Given the description of an element on the screen output the (x, y) to click on. 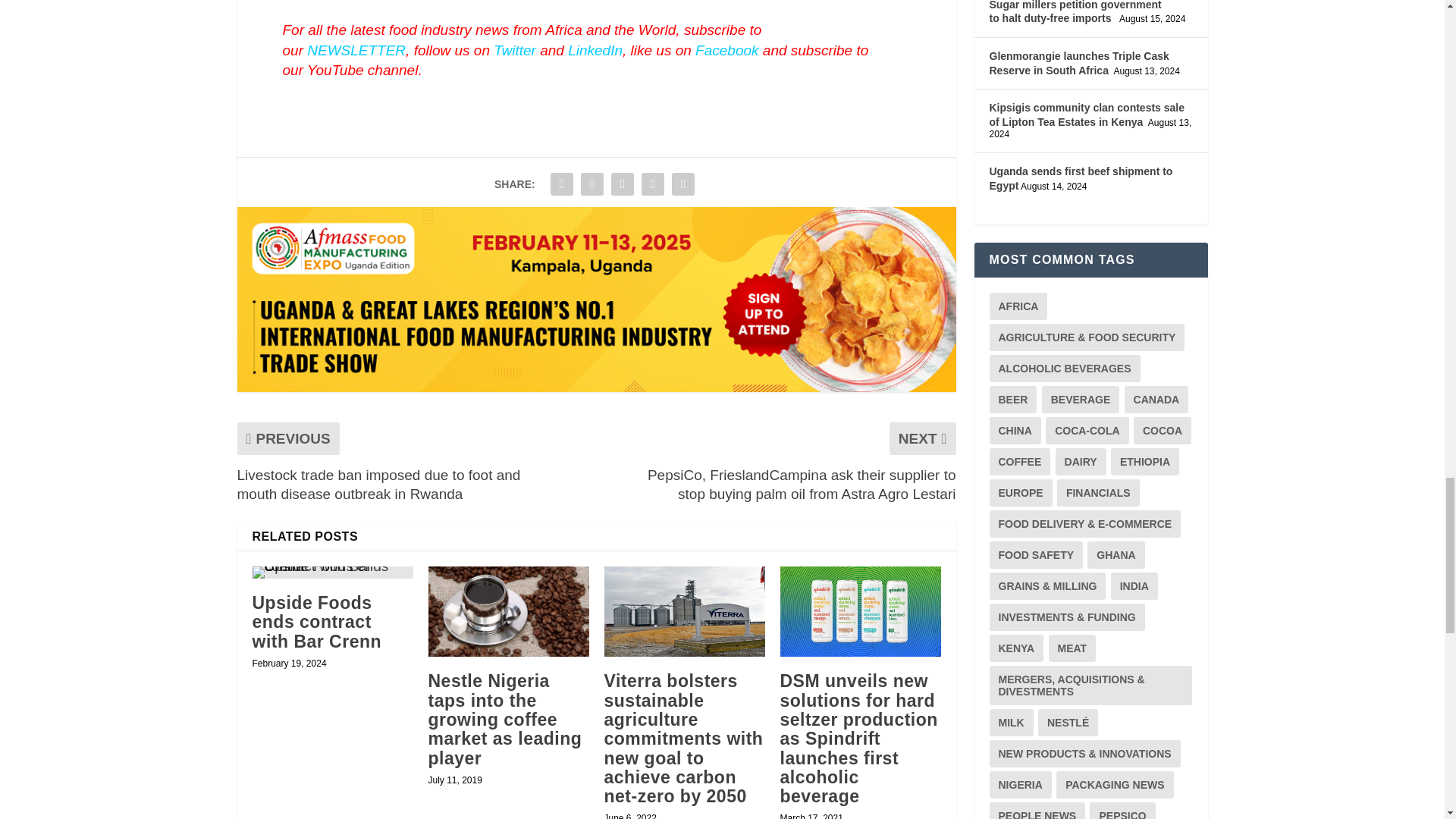
Upside Foods ends contract with Bar Crenn (331, 572)
